Given the description of an element on the screen output the (x, y) to click on. 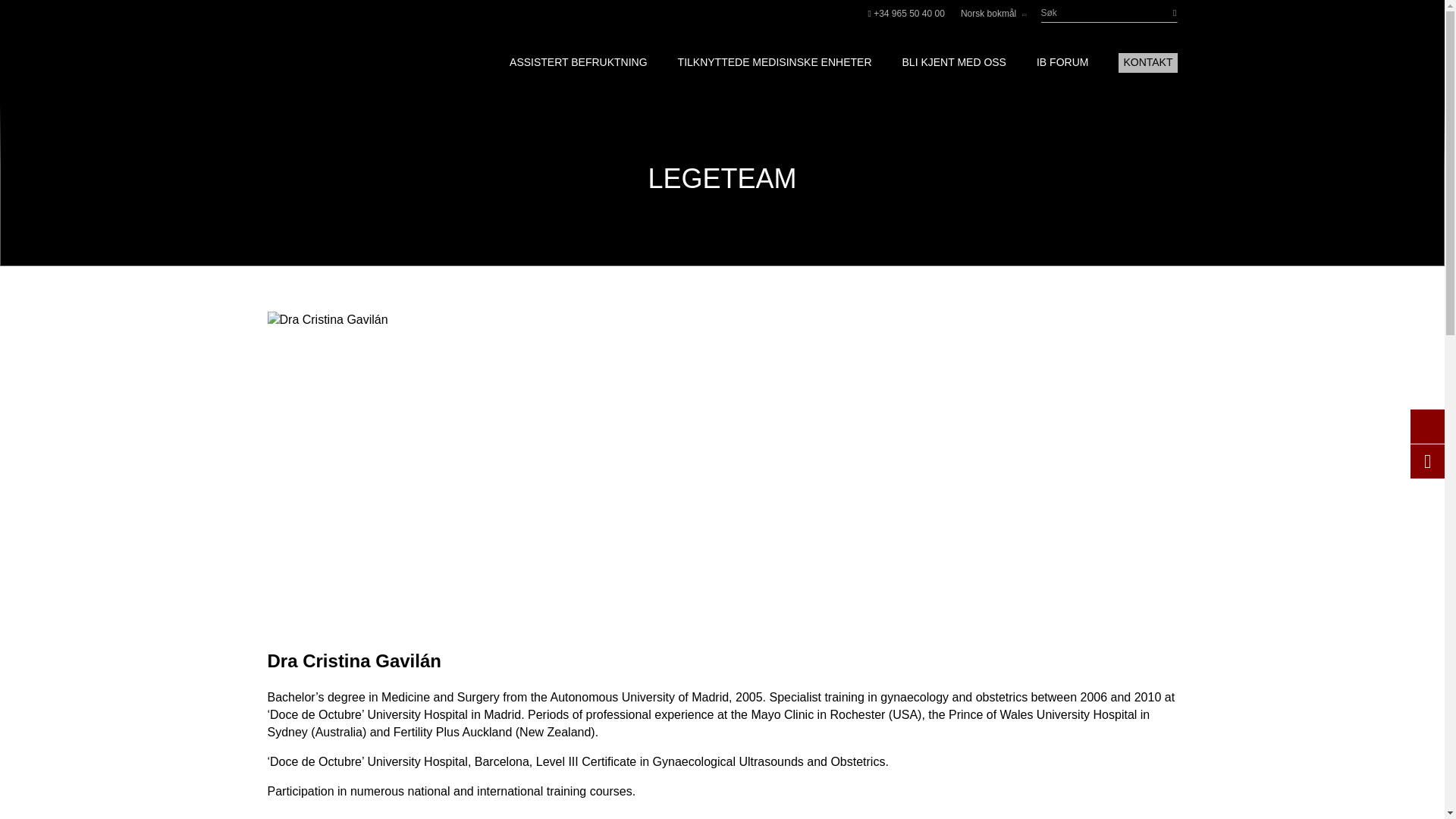
Buscar (1163, 13)
Assistert befruktning (578, 62)
ASSISTERT BEFRUKTNING (578, 62)
Instituto Bernabeu (336, 62)
